Given the description of an element on the screen output the (x, y) to click on. 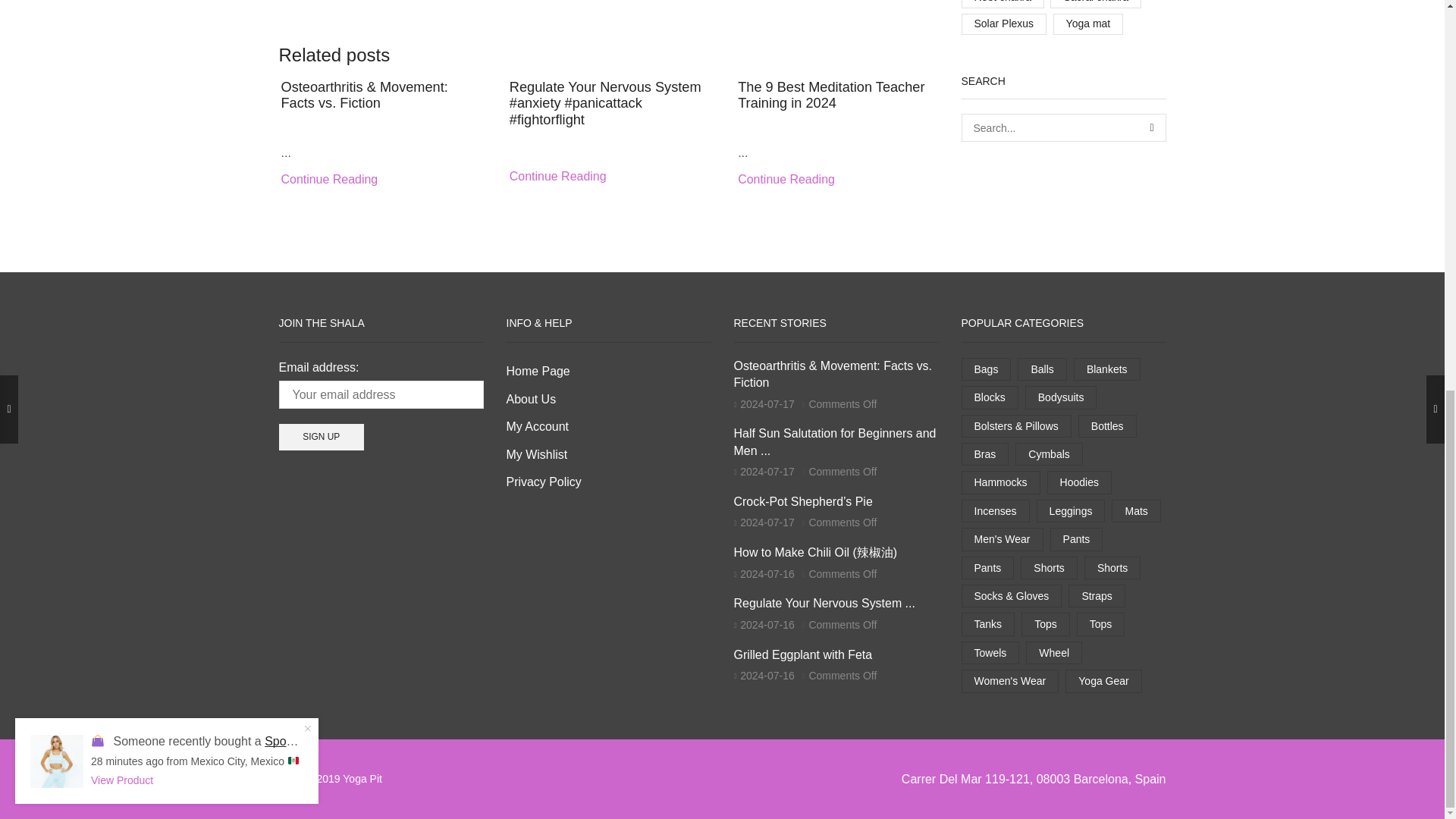
Sign up (322, 437)
